Given the description of an element on the screen output the (x, y) to click on. 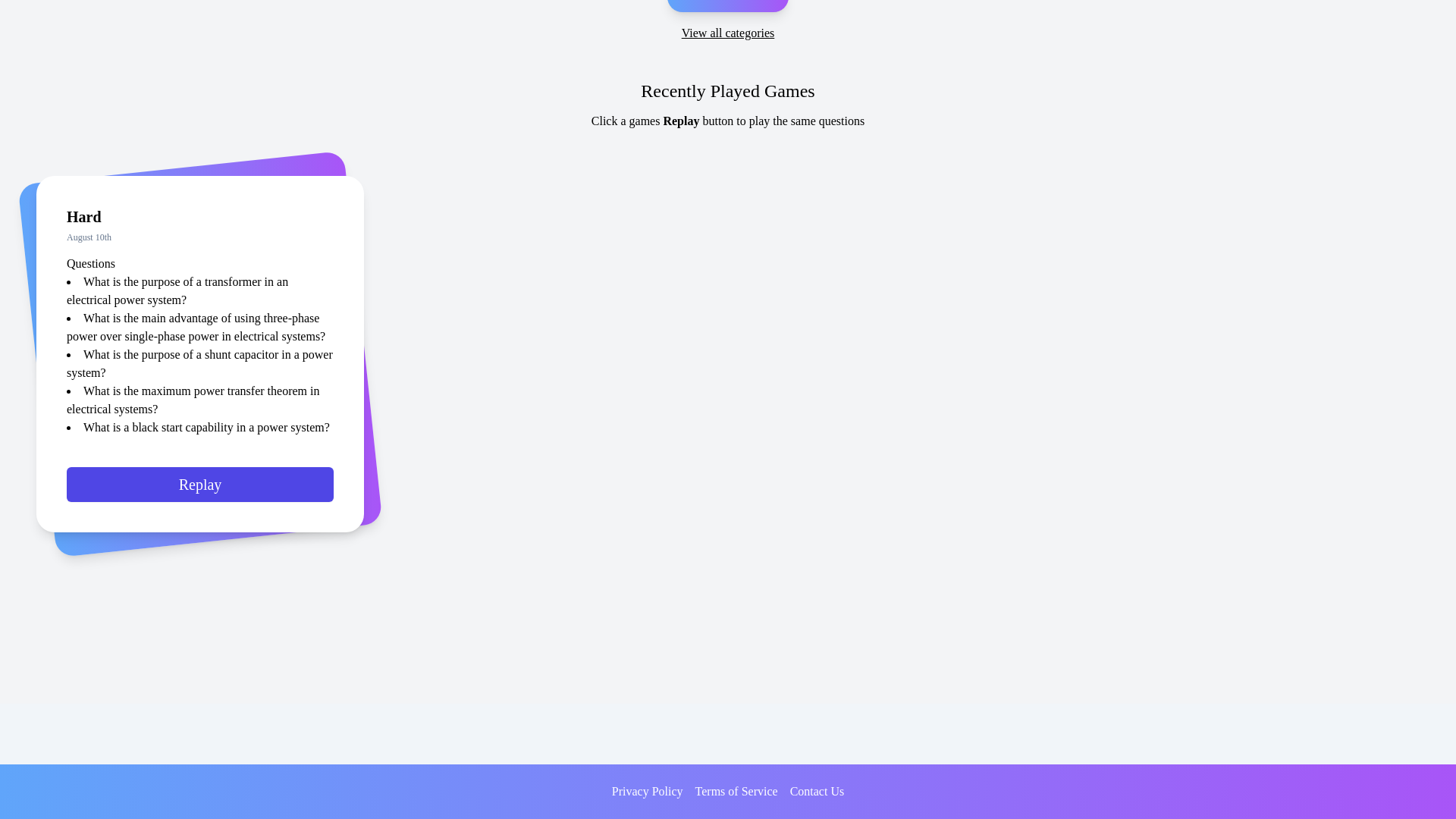
Terms of Service (736, 791)
Privacy Policy (646, 791)
Replay (199, 489)
Contact Us (817, 791)
View all categories (727, 33)
New Game (726, 6)
